Given the description of an element on the screen output the (x, y) to click on. 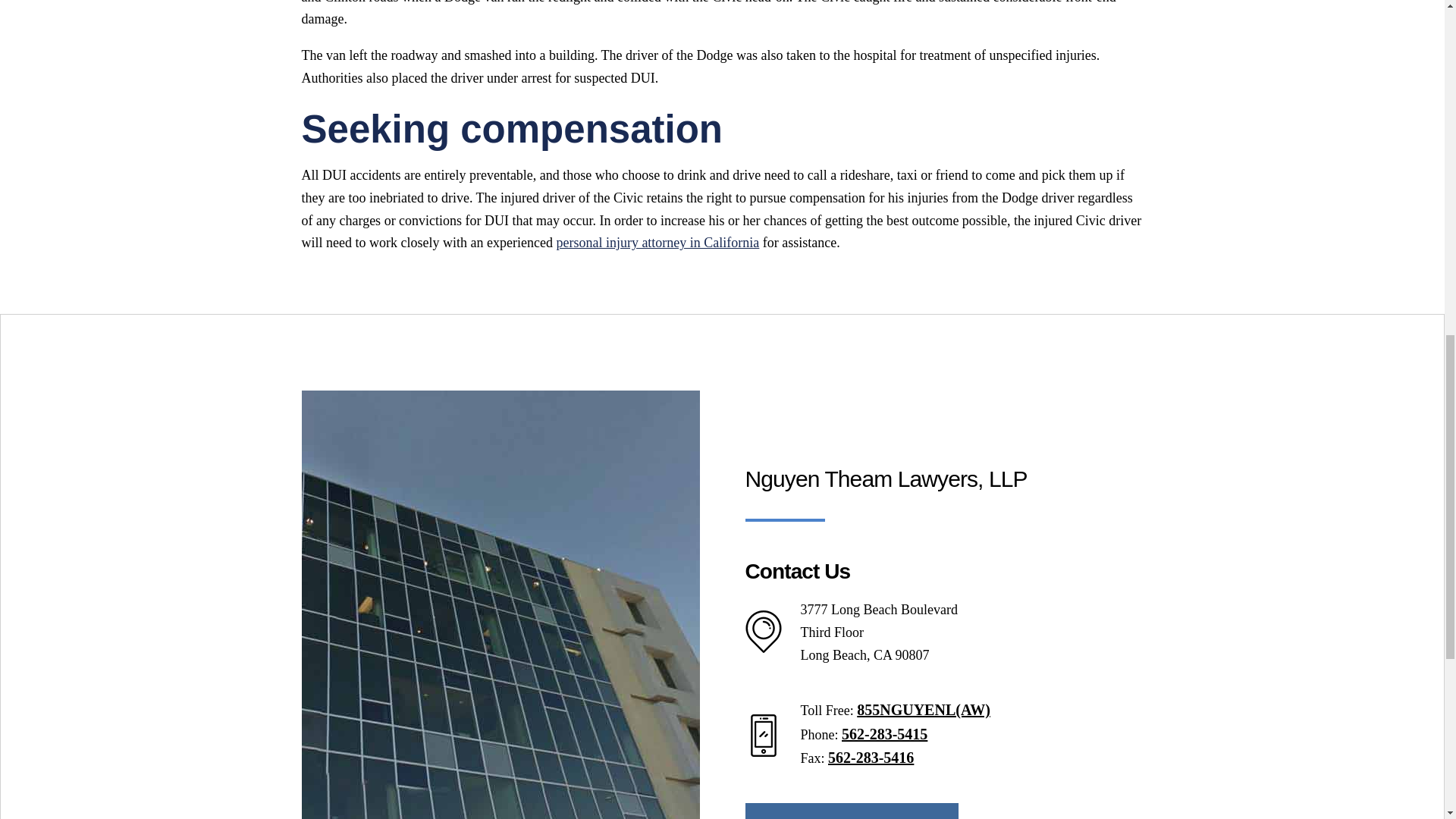
562-283-5415 (884, 733)
LONG BEACH OFFICE (851, 811)
personal injury attorney in California (657, 242)
562-283-5416 (871, 757)
